Given the description of an element on the screen output the (x, y) to click on. 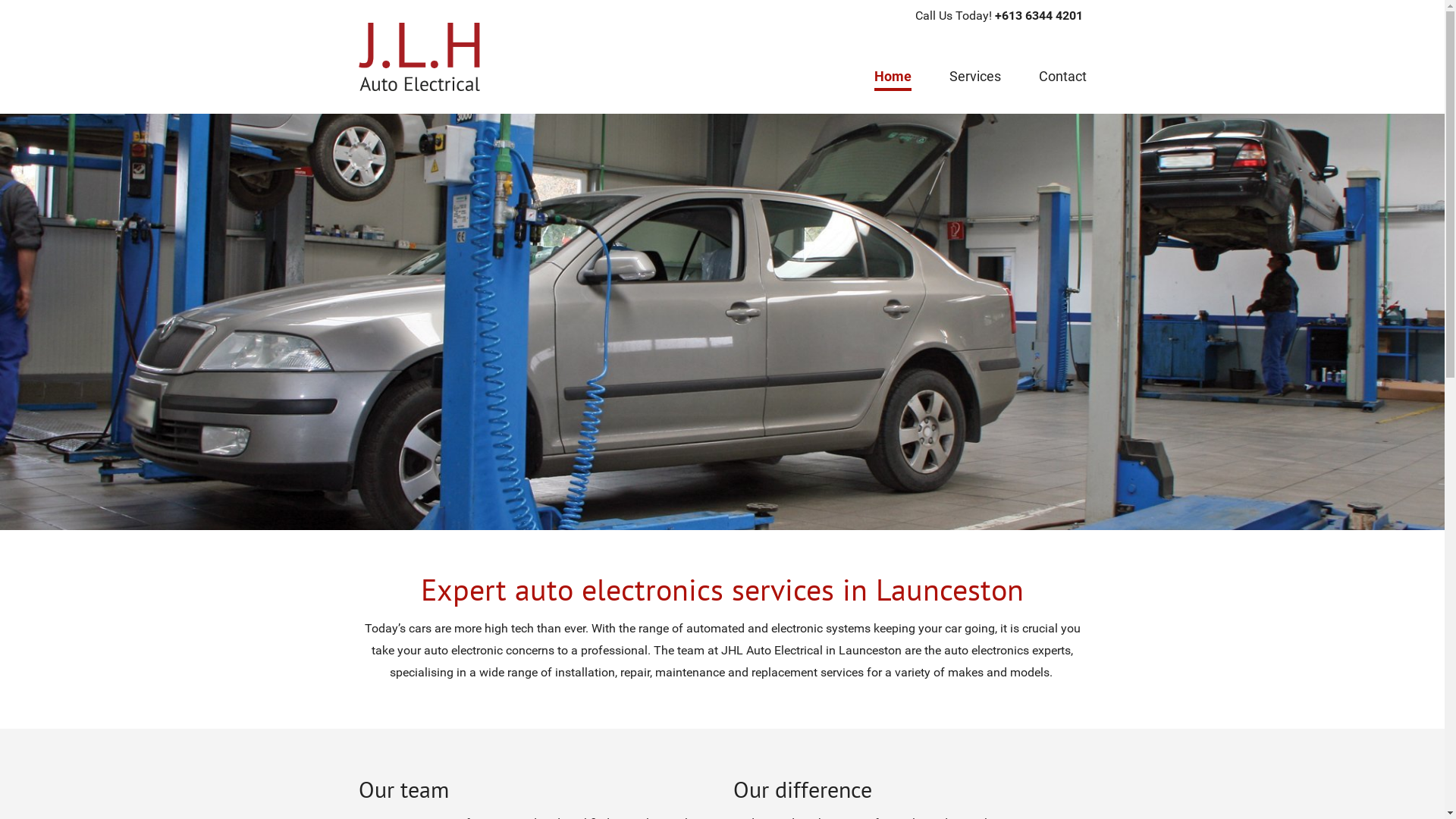
Services Element type: text (975, 79)
Contact Element type: text (1062, 79)
Home Element type: text (891, 79)
